Given the description of an element on the screen output the (x, y) to click on. 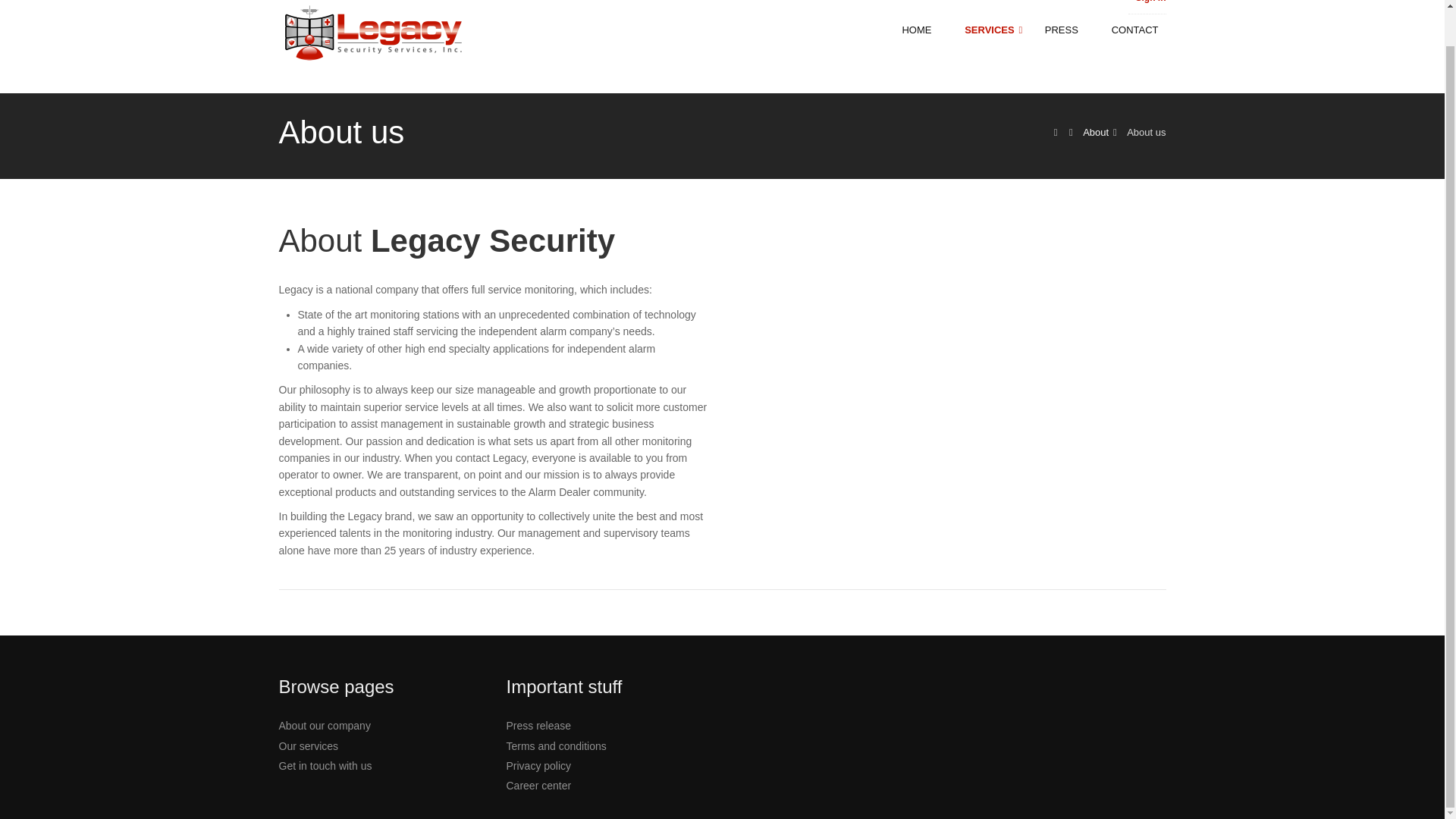
HOME (925, 29)
Privacy policy (539, 766)
Press release (539, 725)
Career center (539, 785)
Terms and conditions (556, 746)
Get in touch with us (325, 766)
About (1095, 132)
Our services (309, 746)
Sign in (1150, 1)
About our company (325, 725)
